Given the description of an element on the screen output the (x, y) to click on. 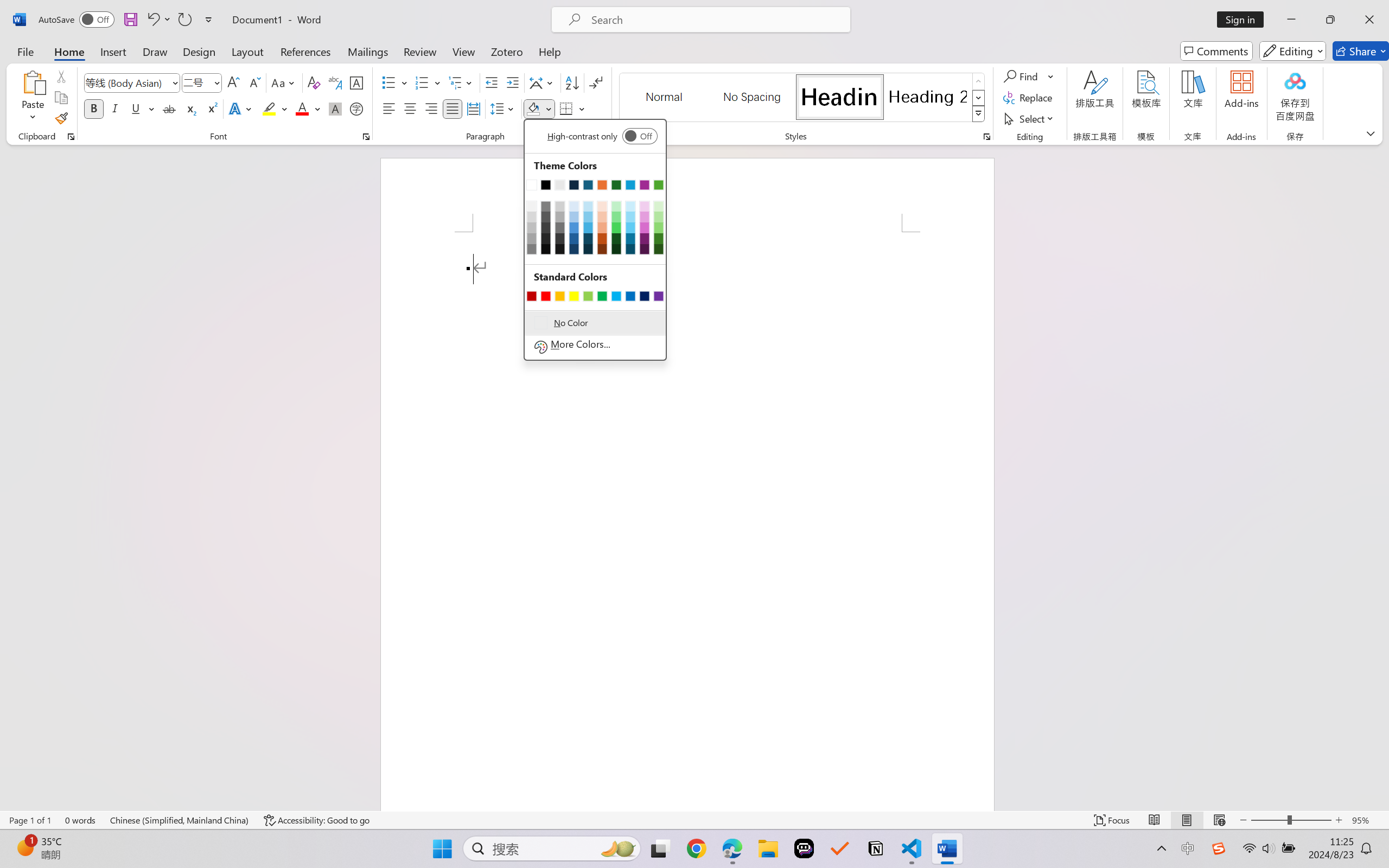
Sign in (1244, 19)
